Given the description of an element on the screen output the (x, y) to click on. 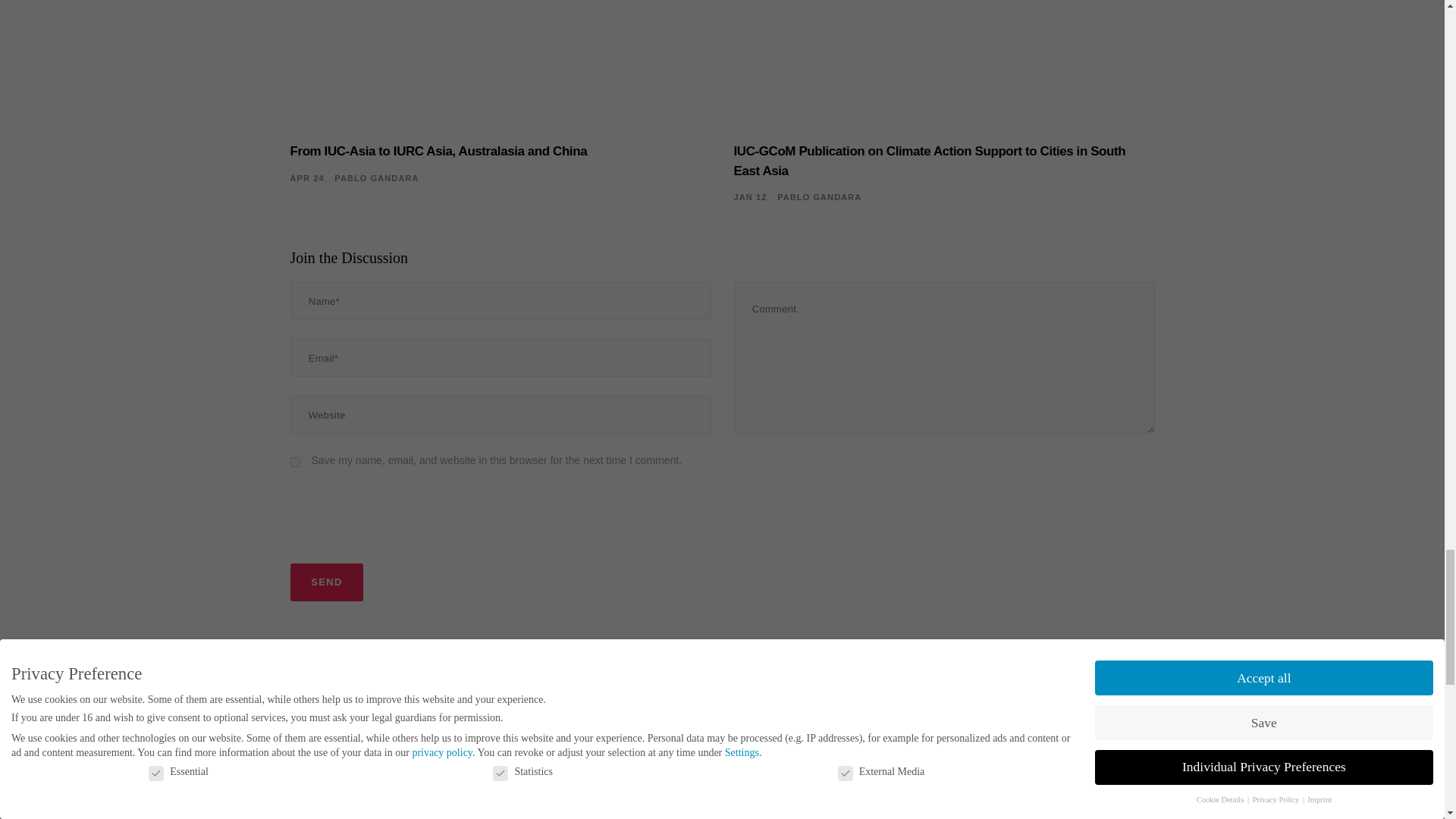
Posts by Pablo Gandara (376, 177)
yes (294, 461)
Saturday, April 24, 2021, 6:16 am (306, 177)
Send (325, 582)
Tuesday, January 12, 2021, 7:50 am (750, 196)
Posts by Pablo Gandara (819, 196)
